Given the description of an element on the screen output the (x, y) to click on. 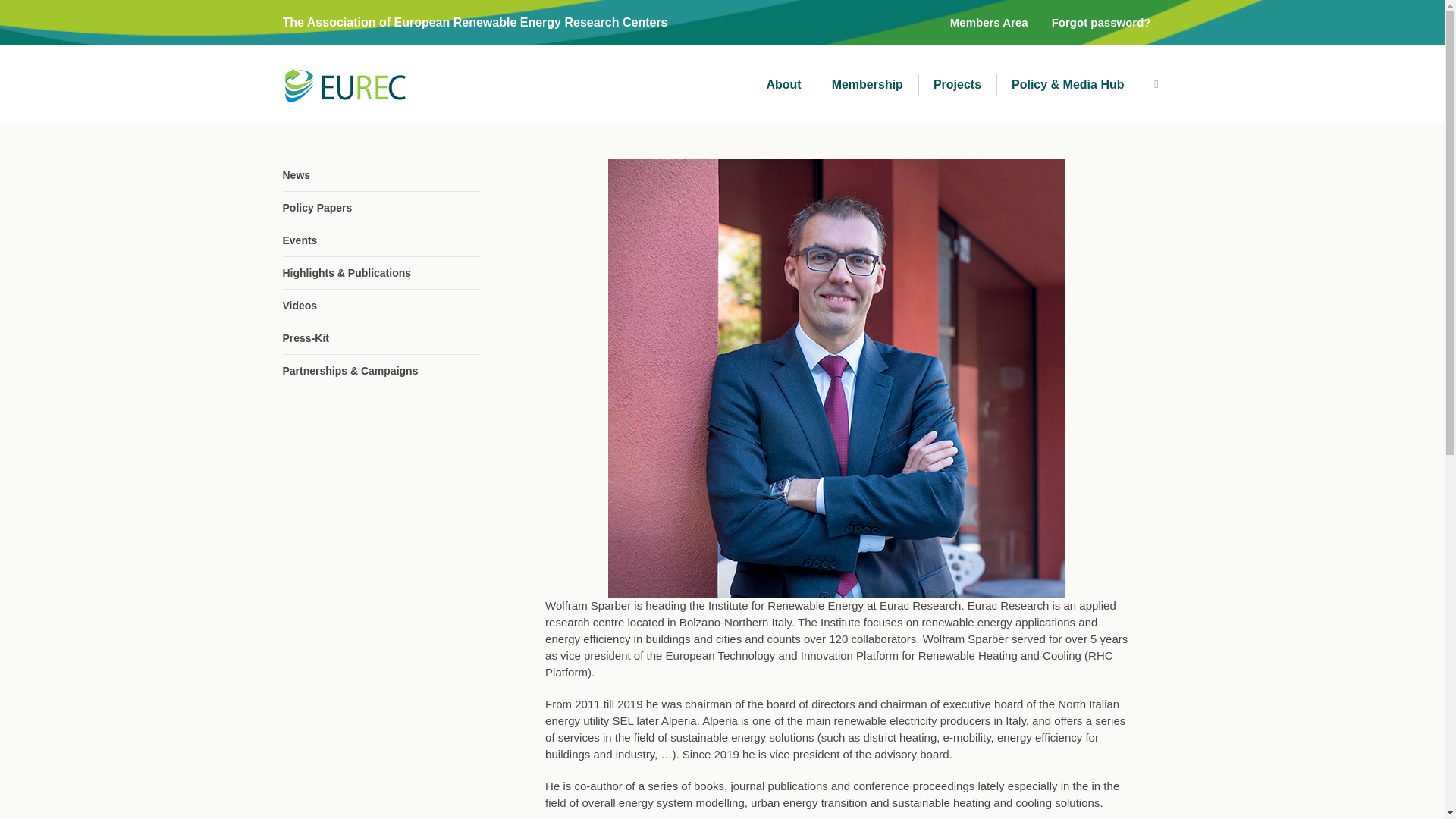
Projects (956, 85)
Press-Kit (381, 337)
Members Area (989, 22)
News (381, 174)
Videos (381, 305)
Wolfram Sparber (836, 377)
Forgot password? (1101, 22)
Policy Papers (381, 207)
Membership (867, 85)
Events (381, 240)
